Given the description of an element on the screen output the (x, y) to click on. 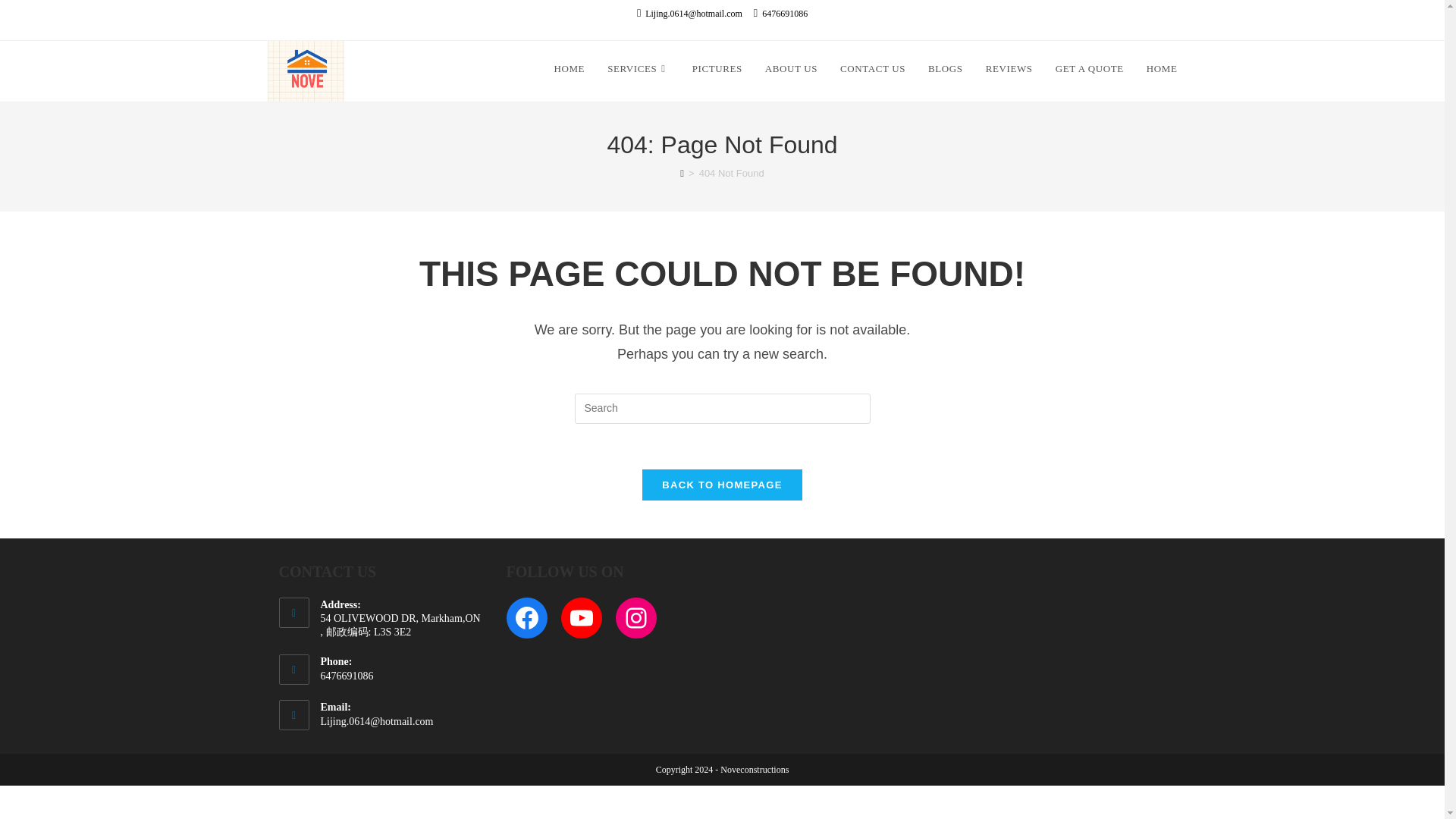
6476691086 (781, 13)
CONTACT US (872, 68)
REVIEWS (1008, 68)
BLOGS (945, 68)
PICTURES (717, 68)
SERVICES (638, 68)
GET A QUOTE (1089, 68)
HOME (1162, 68)
HOME (568, 68)
ABOUT US (791, 68)
